Given the description of an element on the screen output the (x, y) to click on. 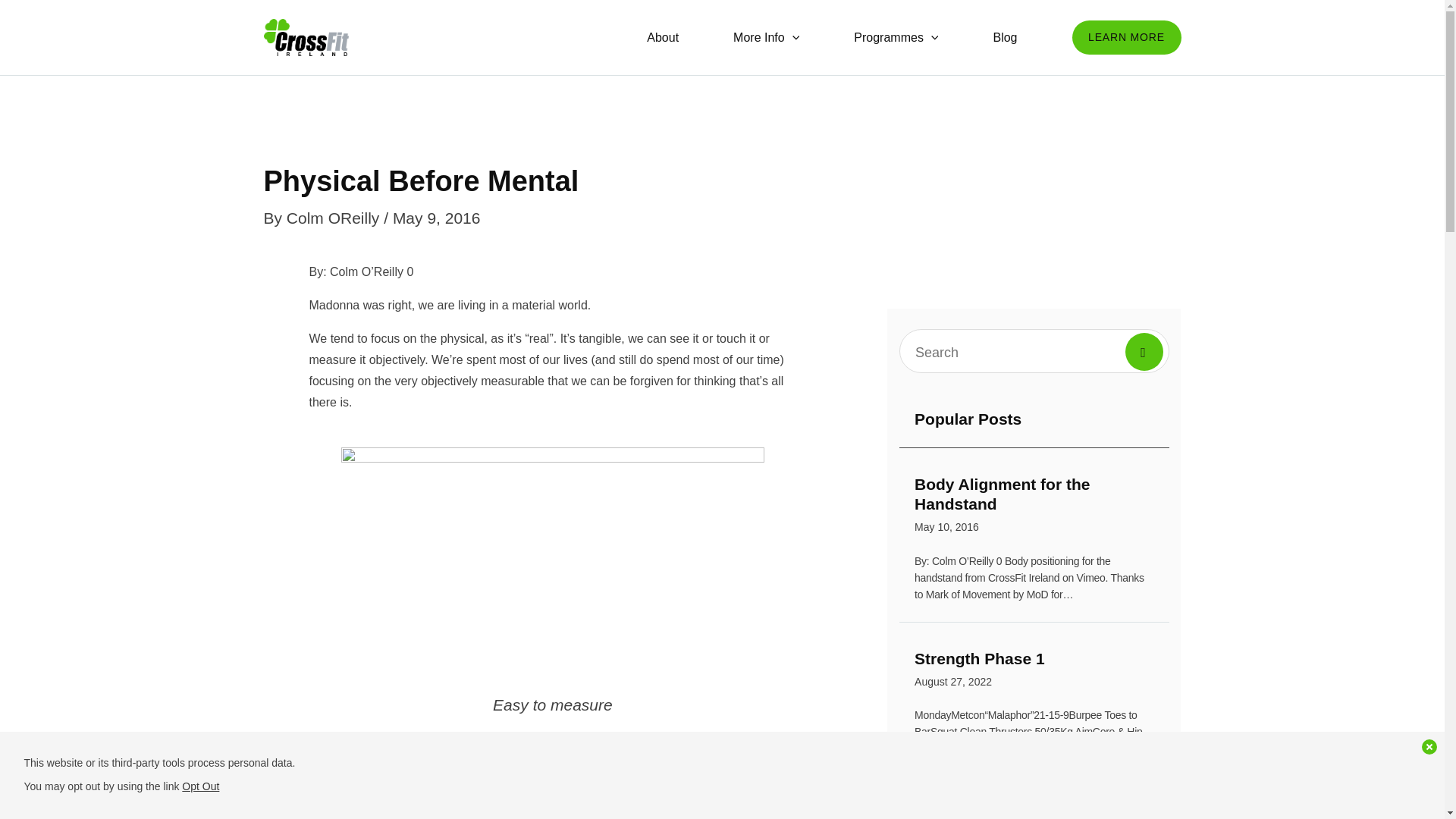
Colm OReilly (335, 217)
Programmes (896, 37)
LEARN MORE (1125, 37)
View all posts by Colm OReilly (335, 217)
Posts by Colm O'Reilly (1034, 671)
Blog (1034, 507)
More Info (366, 271)
About (1004, 37)
